Given the description of an element on the screen output the (x, y) to click on. 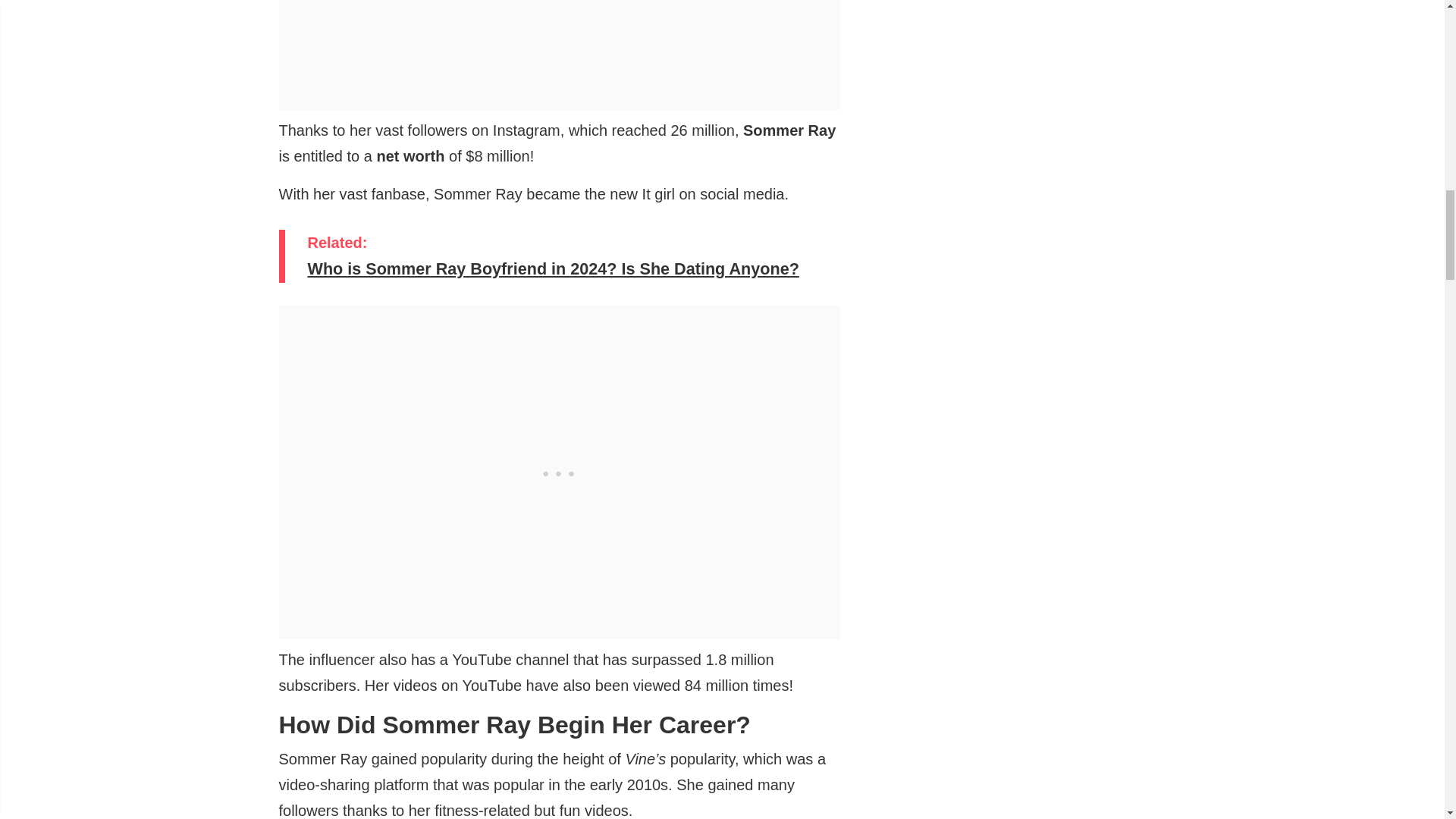
Who is Sommer Ray Boyfriend in 2024? Is She Dating Anyone? (561, 269)
